Given the description of an element on the screen output the (x, y) to click on. 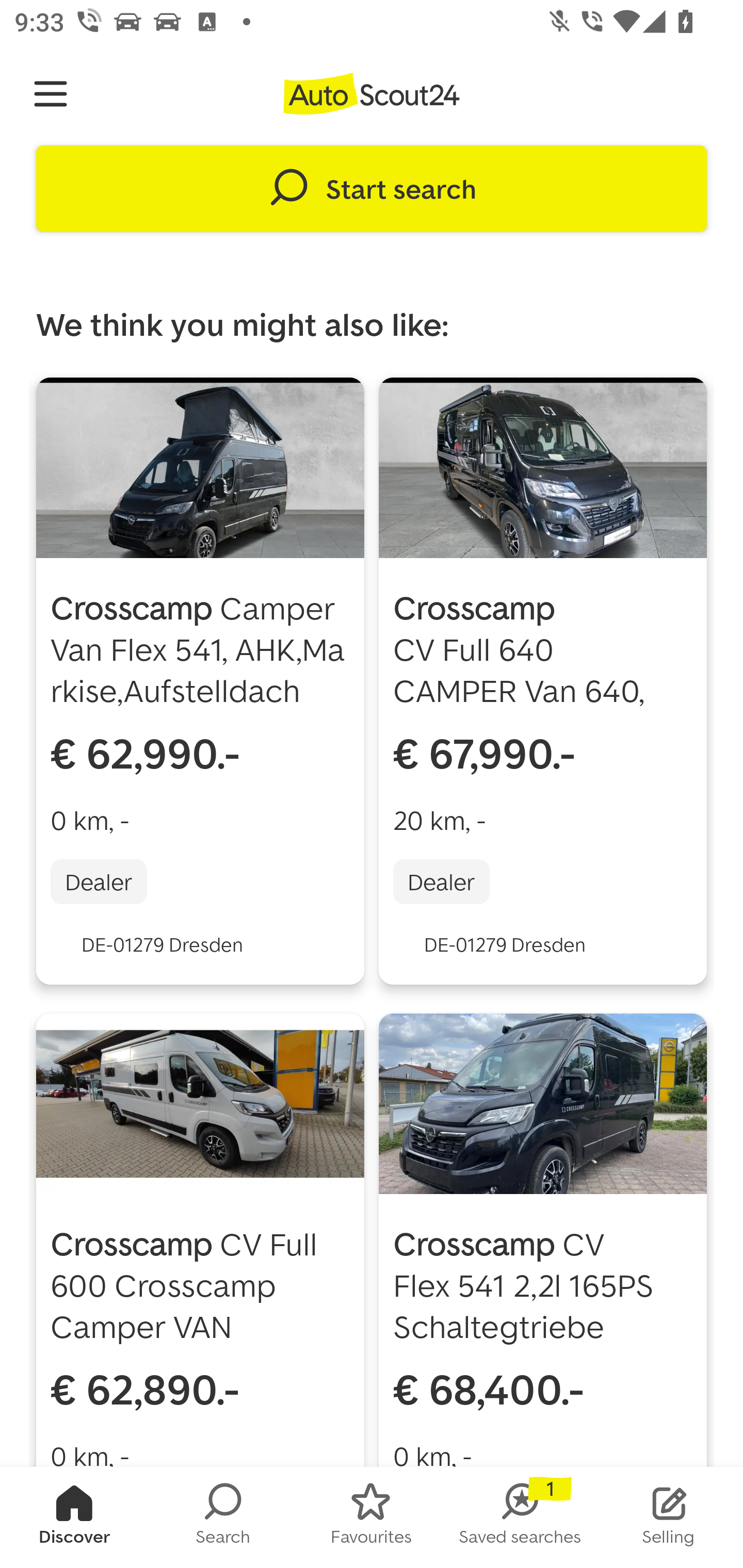
Navigate up (50, 93)
Start search (371, 188)
HOMESCREEN Discover (74, 1517)
SEARCH Search (222, 1517)
FAVORITES Favourites (371, 1517)
SAVED_SEARCHES Saved searches 1 (519, 1517)
STOCK_LIST Selling (668, 1517)
